Given the description of an element on the screen output the (x, y) to click on. 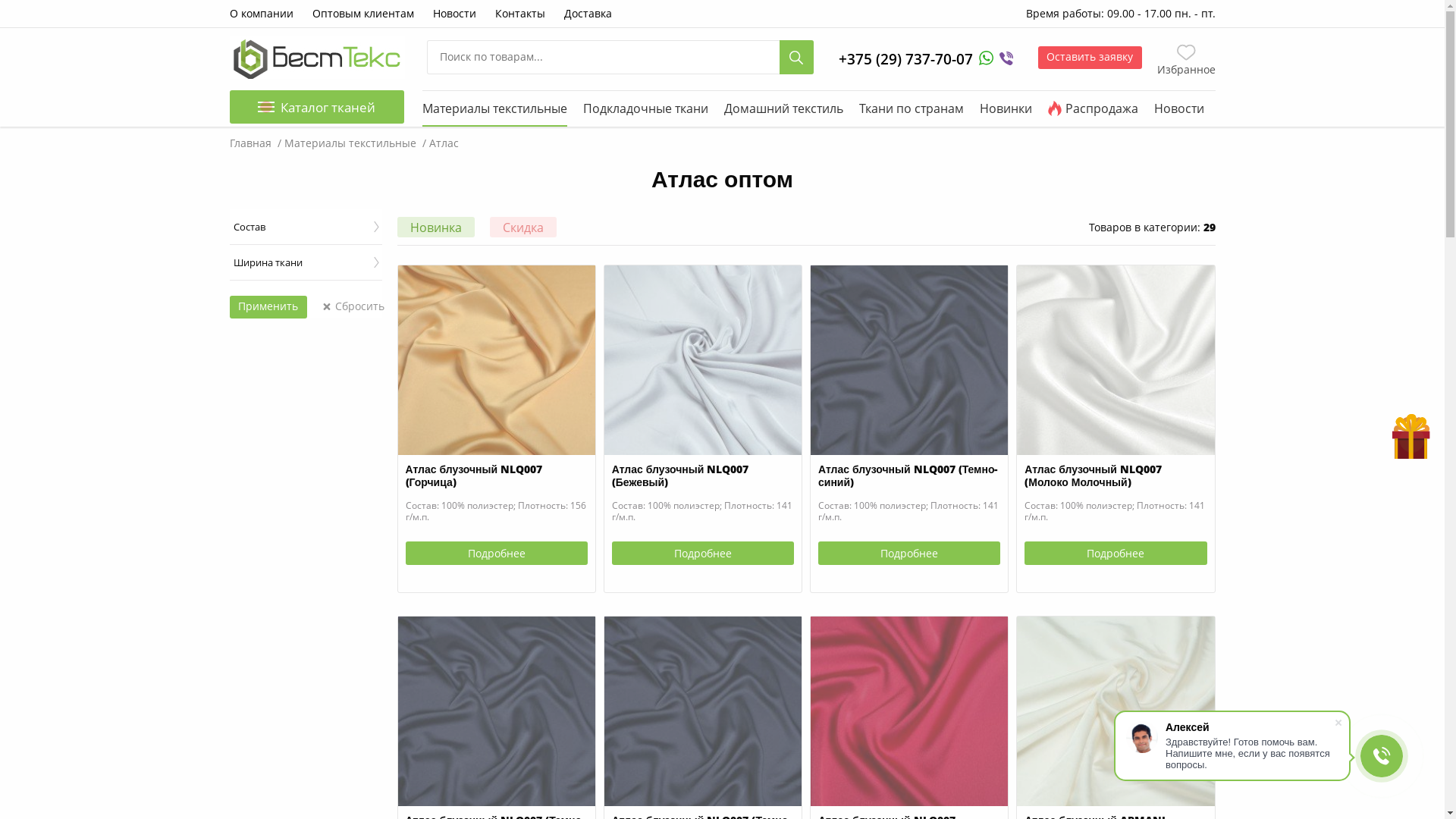
+375 (29) 737-70-07 Element type: text (905, 58)
